Given the description of an element on the screen output the (x, y) to click on. 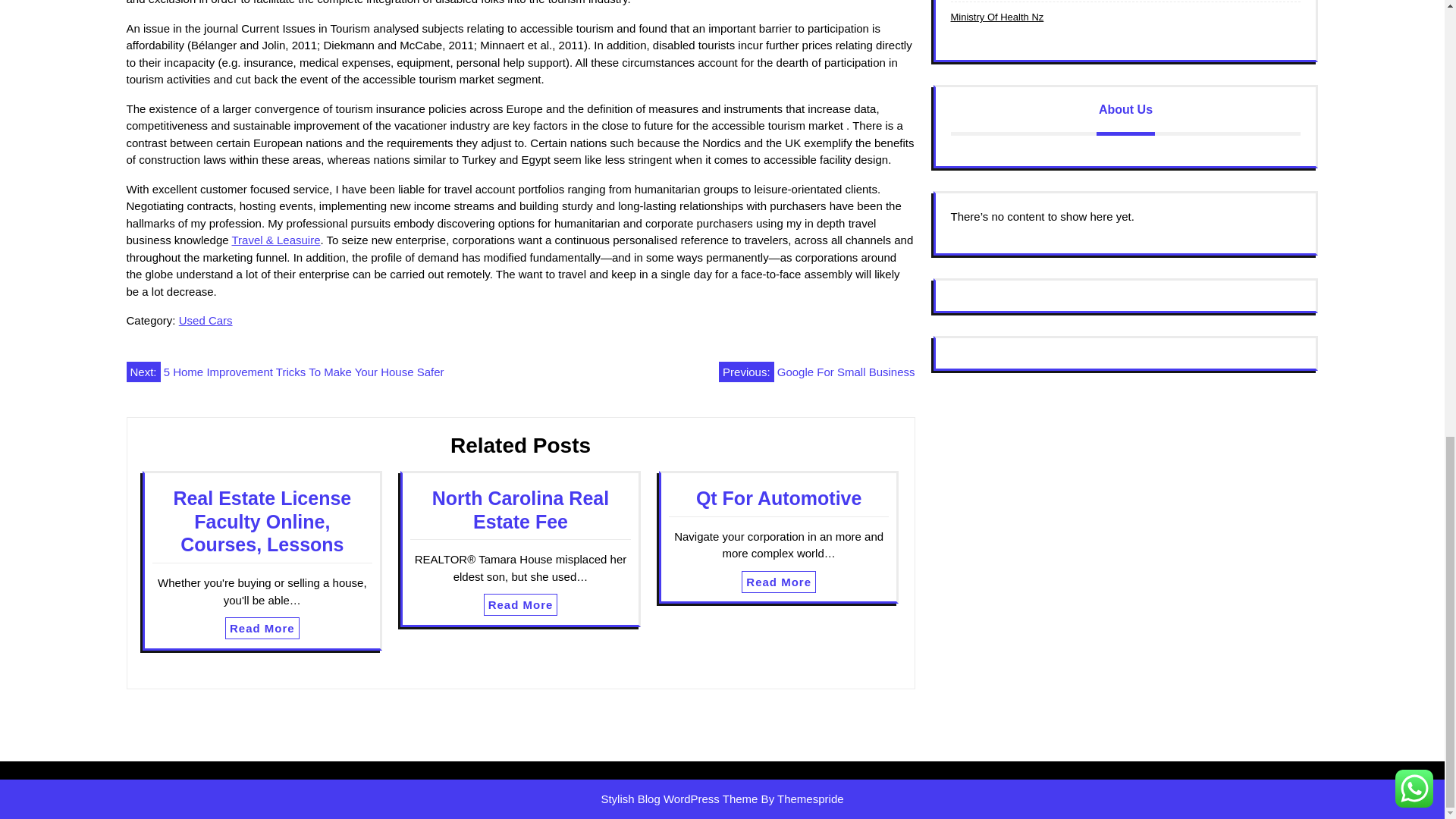
Next: 5 Home Improvement Tricks To Make Your House Safer (284, 371)
Qt For Automotive (778, 497)
Read More (262, 628)
Read More (262, 628)
Read More (520, 604)
Stylish Blog WordPress Theme (678, 798)
North Carolina Real Estate Fee (520, 509)
North Carolina Real Estate Fee (520, 509)
Ministry Of Health Nz (996, 16)
Real Estate License Faculty Online, Courses, Lessons (261, 521)
